Given the description of an element on the screen output the (x, y) to click on. 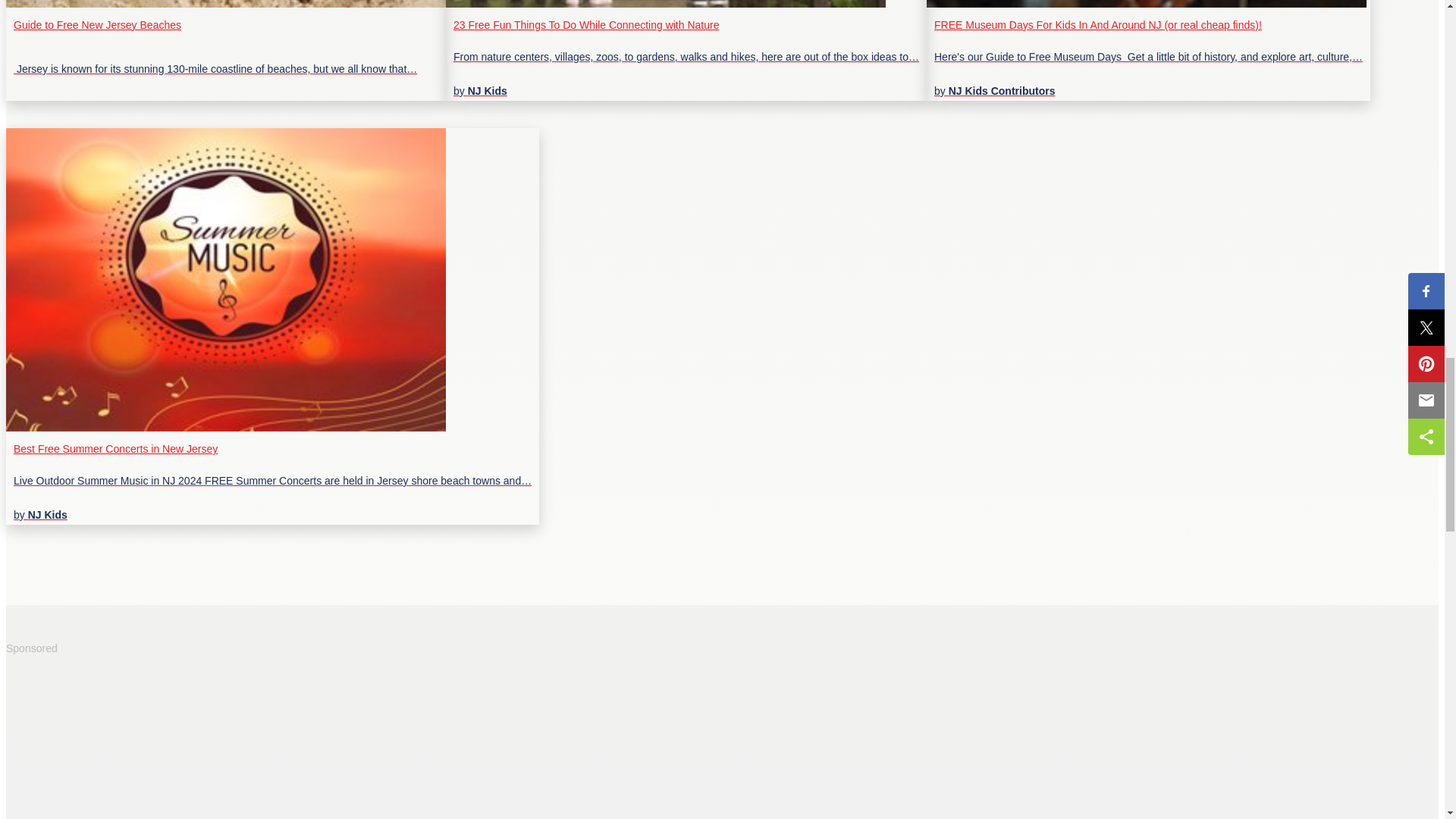
3rd party ad content (118, 742)
